Given the description of an element on the screen output the (x, y) to click on. 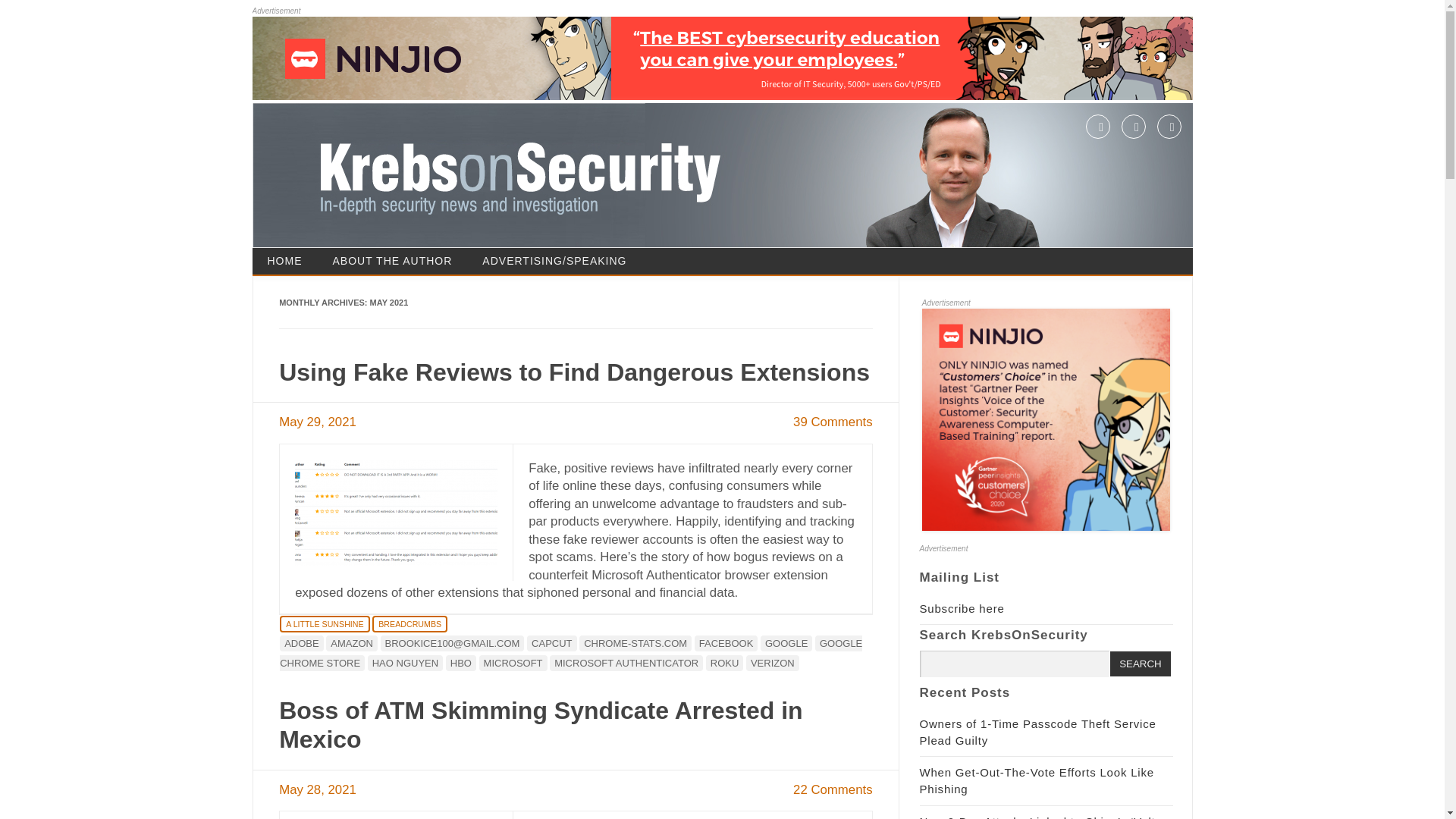
VERIZON (772, 662)
MICROSOFT AUTHENTICATOR (626, 662)
GOOGLE CHROME STORE (570, 652)
Skip to content (764, 253)
Using Fake Reviews to Find Dangerous Extensions (574, 371)
HBO (460, 662)
Permalink to Using Fake Reviews to Find Dangerous Extensions (574, 371)
39 Comments (832, 421)
HAO NGUYEN (405, 662)
Skip to content (764, 253)
